Given the description of an element on the screen output the (x, y) to click on. 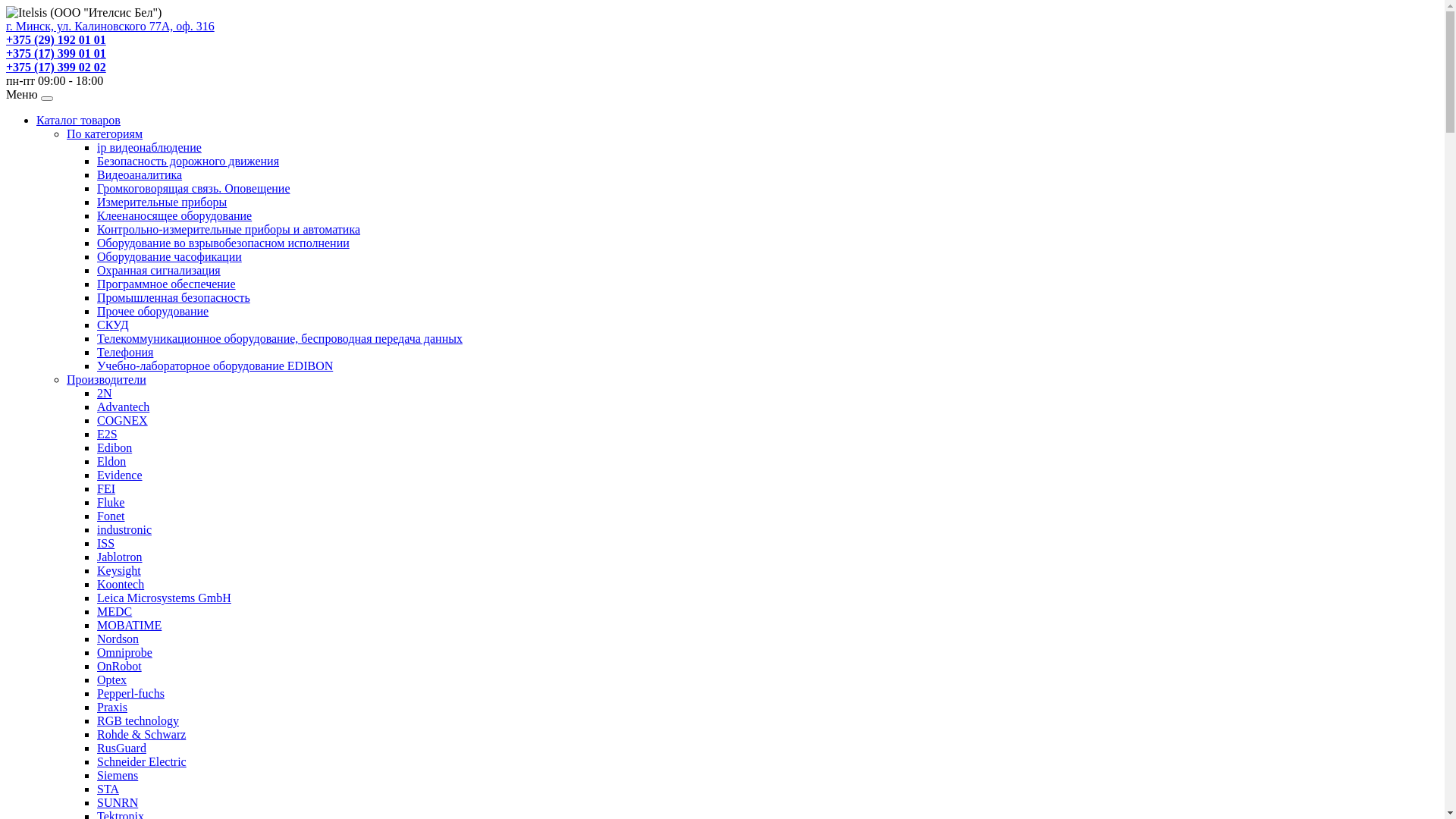
Jablotron Element type: text (119, 556)
Optex Element type: text (111, 679)
Pepperl-fuchs Element type: text (130, 693)
Koontech Element type: text (120, 583)
Advantech Element type: text (123, 406)
Eldon Element type: text (111, 461)
Edibon Element type: text (114, 447)
industronic Element type: text (124, 529)
Rohde & Schwarz Element type: text (141, 734)
ISS Element type: text (105, 542)
RGB technology Element type: text (137, 720)
SUNRN Element type: text (117, 802)
Keysight Element type: text (119, 570)
Nordson Element type: text (117, 638)
Fluke Element type: text (110, 501)
+375 (29) 192 01 01 Element type: text (56, 39)
COGNEX Element type: text (122, 420)
RusGuard Element type: text (121, 747)
+375 (17) 399 02 02 Element type: text (56, 66)
Schneider Electric Element type: text (141, 761)
2N Element type: text (104, 392)
Leica Microsystems GmbH Element type: text (164, 597)
Omniprobe Element type: text (124, 652)
MOBATIME Element type: text (129, 624)
FEI Element type: text (106, 488)
E2S Element type: text (107, 433)
Praxis Element type: text (112, 706)
OnRobot Element type: text (119, 665)
STA Element type: text (108, 788)
Siemens Element type: text (117, 774)
Evidence Element type: text (119, 474)
Fonet Element type: text (110, 515)
MEDC Element type: text (114, 611)
+375 (17) 399 01 01 Element type: text (56, 53)
